Given the description of an element on the screen output the (x, y) to click on. 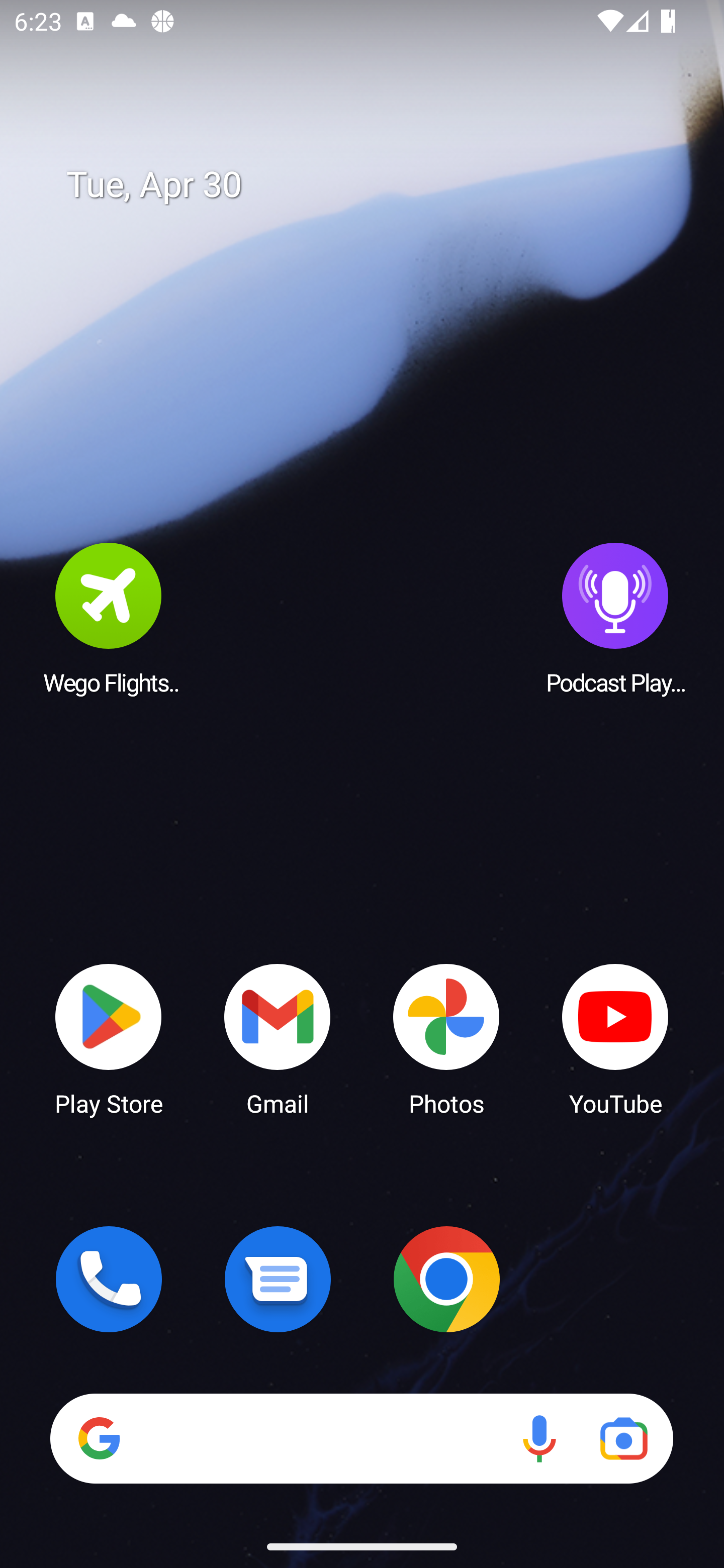
Tue, Apr 30 (375, 184)
Wego Flights & Hotels (108, 617)
Podcast Player (615, 617)
Play Store (108, 1038)
Gmail (277, 1038)
Photos (445, 1038)
YouTube (615, 1038)
Phone (108, 1279)
Messages (277, 1279)
Chrome (446, 1279)
Voice search (539, 1438)
Google Lens (623, 1438)
